Given the description of an element on the screen output the (x, y) to click on. 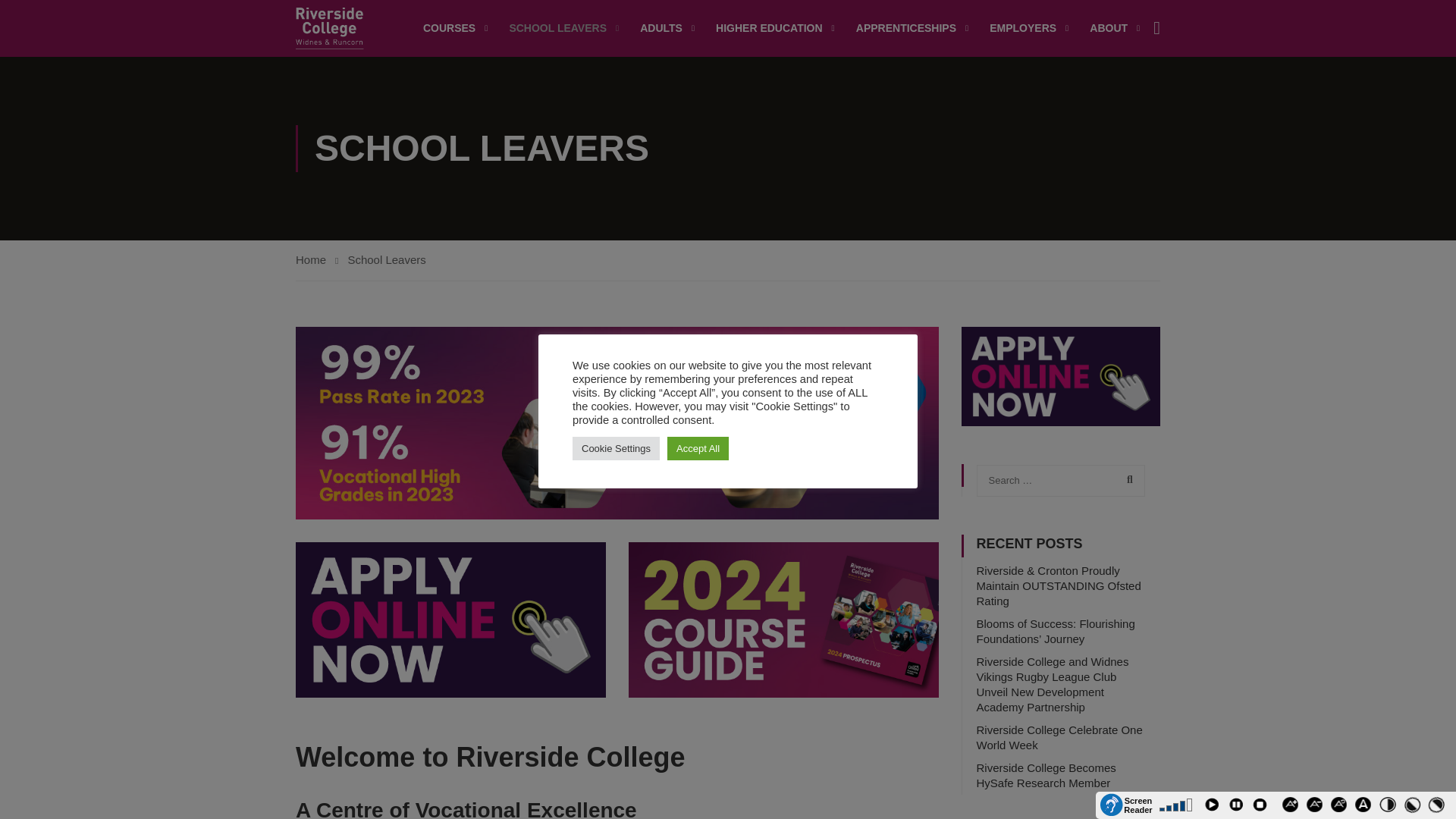
 - Toggle high contrast -  (1412, 807)
 - Increase -  (1291, 807)
 - Reset -  (1339, 807)
Search (1125, 480)
 - Screen Reader -  (1126, 805)
 - Toggle high contrast -  (1437, 807)
 - Toggle high contrast -  (1388, 807)
 - Stop -  (1261, 807)
 - Pause -  (1237, 807)
 - Dyslexic font -  (1364, 807)
 - Decrease -  (1315, 807)
Search (1125, 480)
 - Play -  (1213, 807)
